Given the description of an element on the screen output the (x, y) to click on. 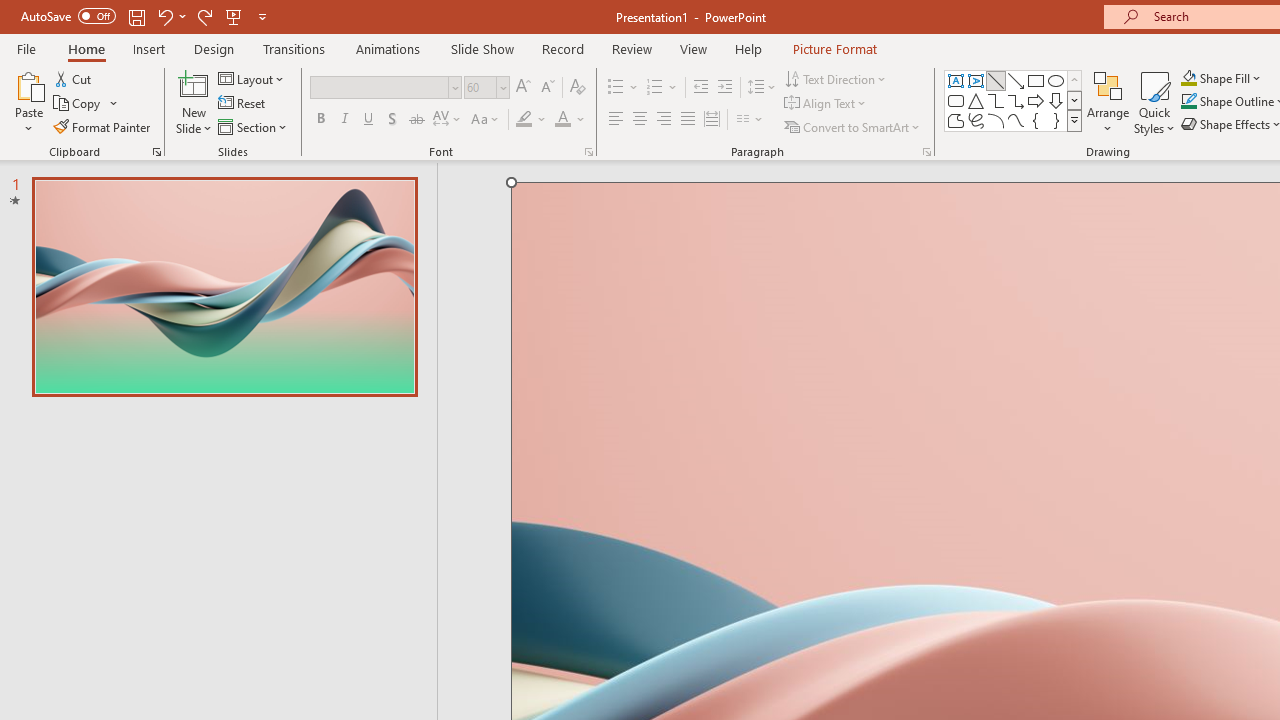
Picture Format (834, 48)
